Given the description of an element on the screen output the (x, y) to click on. 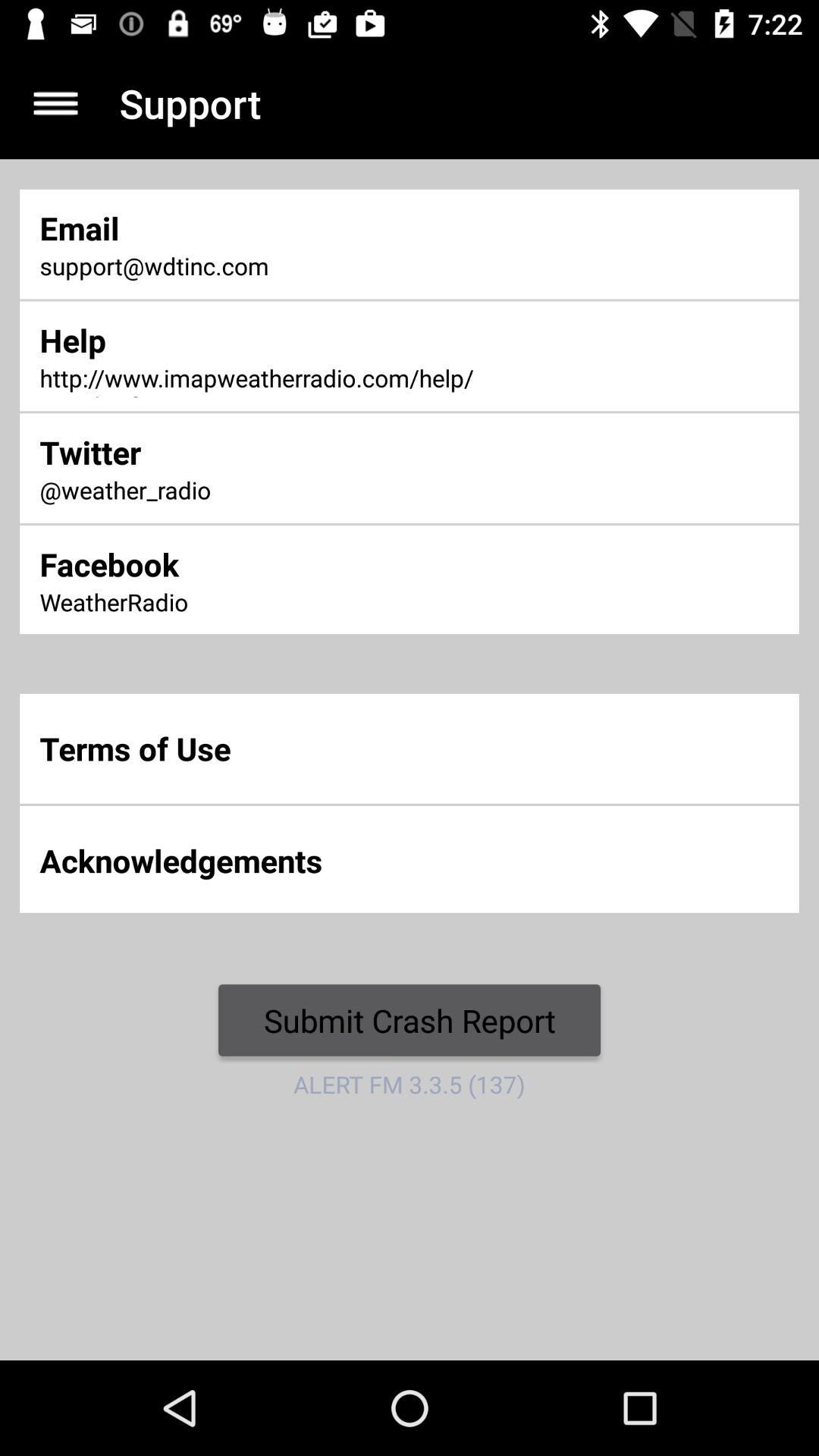
choose the item below http www imapweatherradio (272, 451)
